Given the description of an element on the screen output the (x, y) to click on. 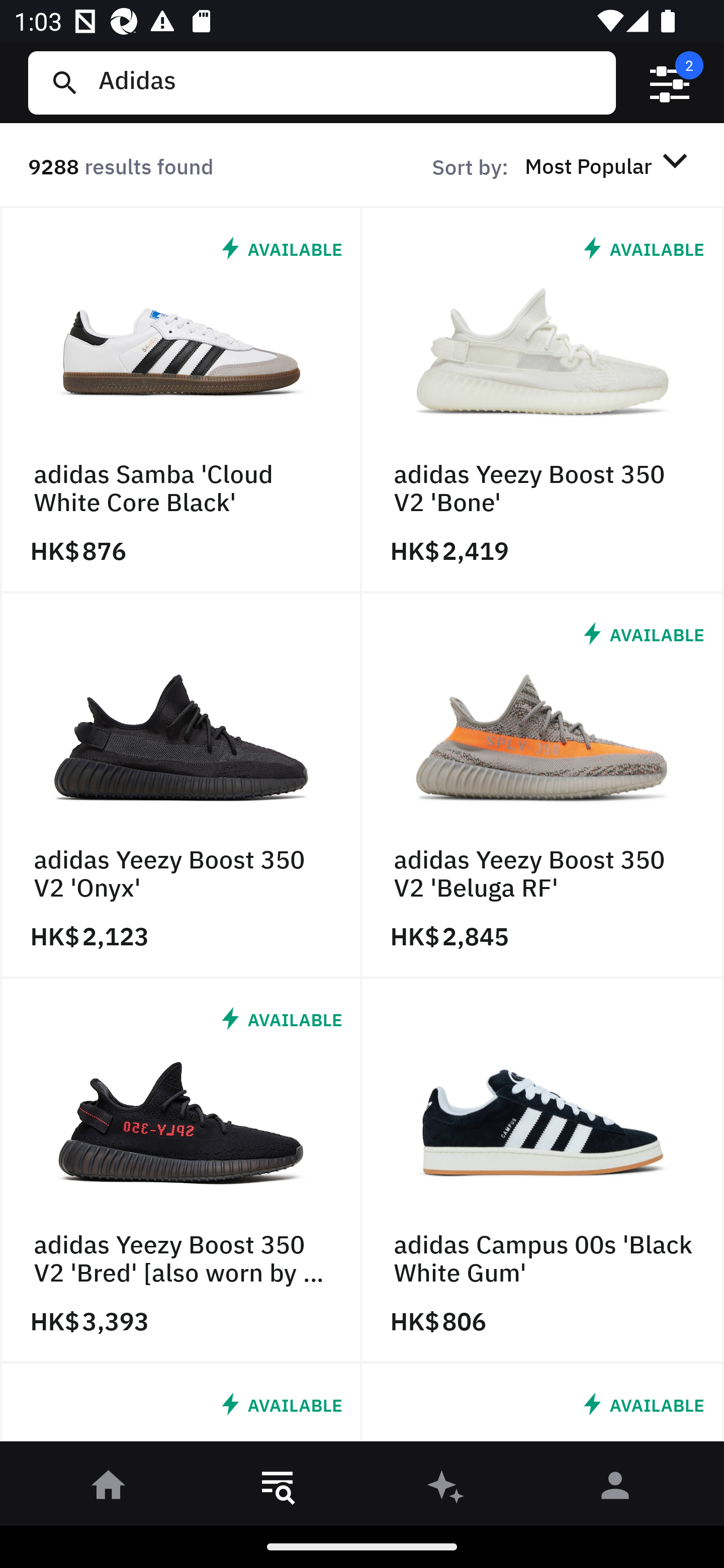
Adidas (349, 82)
 (669, 82)
Most Popular  (609, 165)
adidas Yeezy Boost 350 V2 'Onyx' HK$ 2,123 (181, 785)
adidas Campus 00s 'Black White Gum' HK$ 806 (543, 1171)
󰋜 (108, 1488)
󱎸 (277, 1488)
󰫢 (446, 1488)
󰀄 (615, 1488)
